Given the description of an element on the screen output the (x, y) to click on. 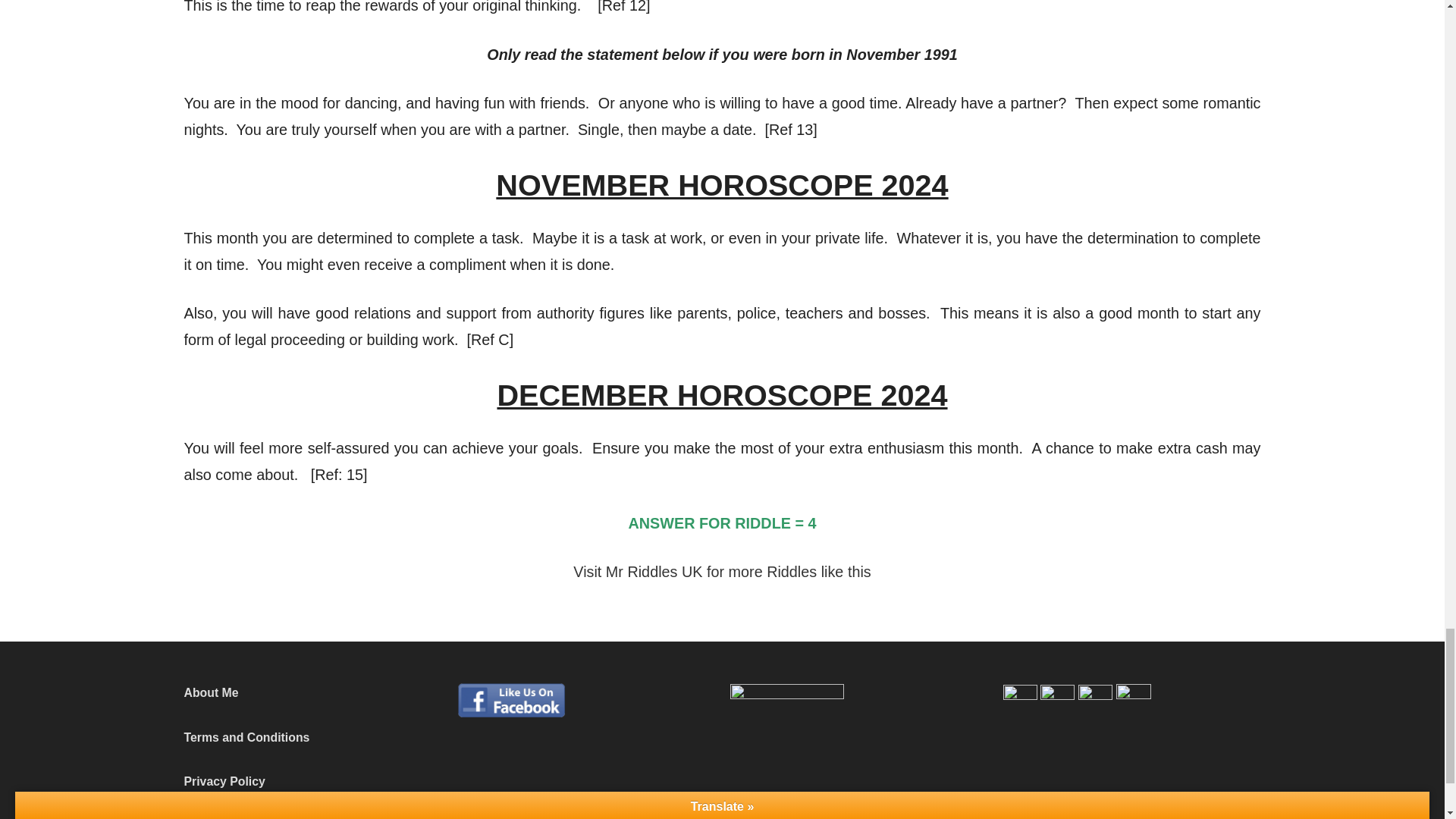
Privacy Policy (223, 780)
Terms and Conditions (245, 737)
Visit Mr Riddles UK for more Riddles like this (721, 571)
About Me (210, 692)
